Given the description of an element on the screen output the (x, y) to click on. 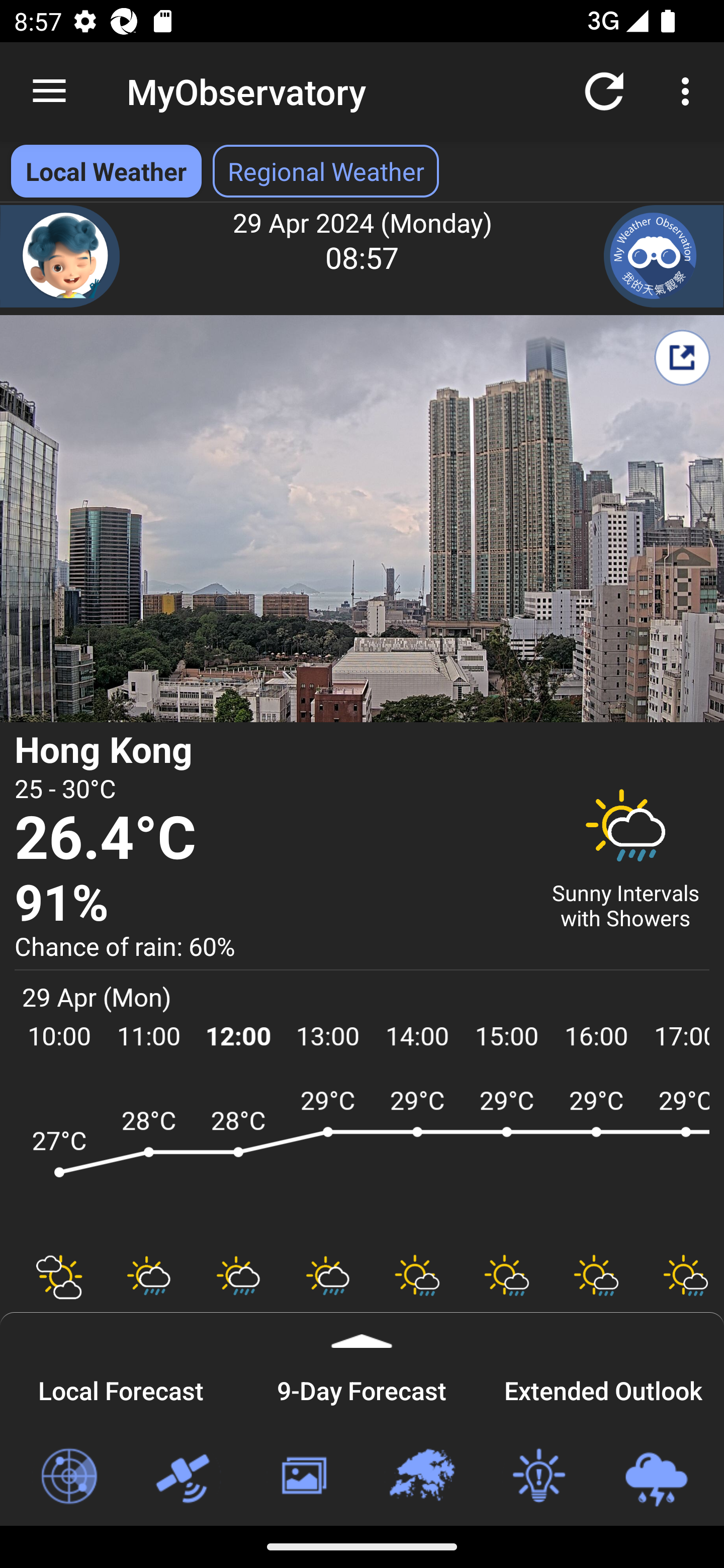
Navigate up (49, 91)
Refresh (604, 90)
More options (688, 90)
Local Weather Local Weather selected (105, 170)
Regional Weather Select Regional Weather (325, 170)
Chatbot (60, 256)
My Weather Observation (663, 256)
Share My Weather Report (681, 357)
26.4°C Temperature
26.4 degree Celsius (270, 839)
91% Relative Humidity
91 percent (270, 903)
ARWF (361, 1160)
Expand (362, 1330)
Local Forecast (120, 1387)
Extended Outlook (603, 1387)
Radar Images (68, 1476)
Satellite Images (185, 1476)
Weather Photos (302, 1476)
Regional Weather (420, 1476)
Weather Tips (537, 1476)
Loc-based Rain & Lightning Forecast (655, 1476)
